Given the description of an element on the screen output the (x, y) to click on. 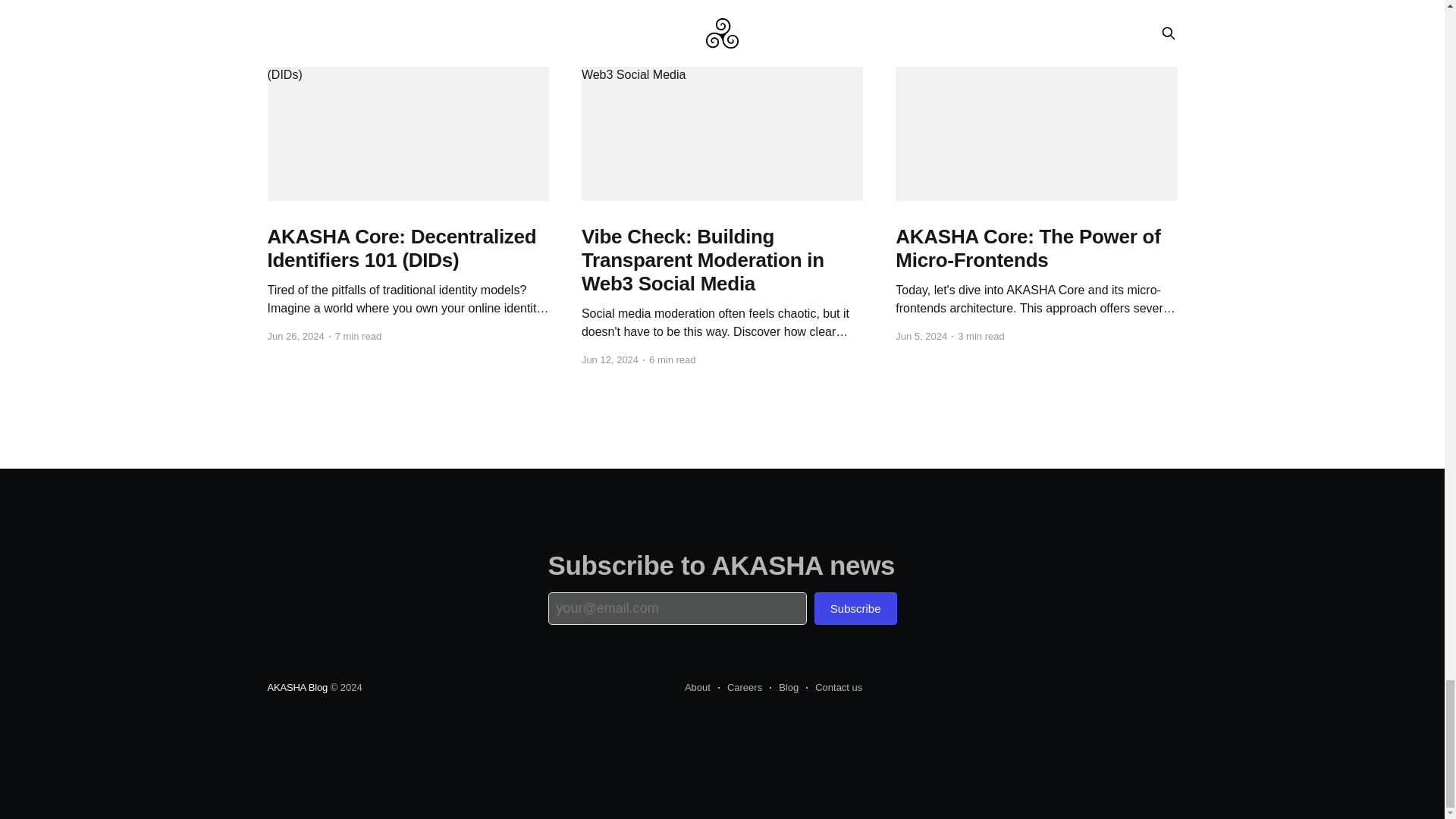
Blog (783, 687)
Subscribe (854, 608)
AKASHA Blog (296, 686)
Subscribe (854, 608)
Careers (739, 687)
About (697, 687)
Contact us (833, 687)
